Given the description of an element on the screen output the (x, y) to click on. 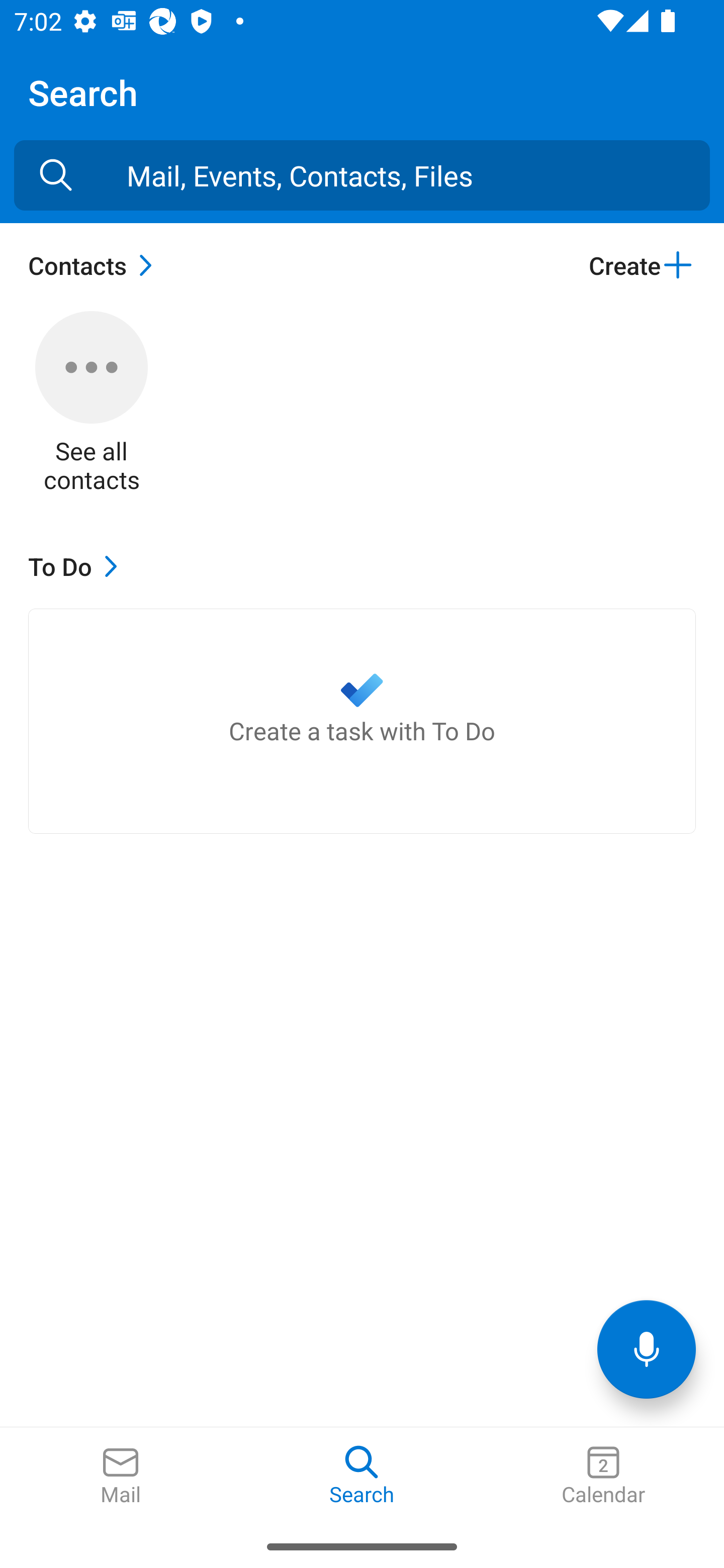
Search Mail, Events, Contacts, Files (55, 174)
Contacts (95, 264)
Create Create contact (641, 264)
See all contacts (91, 402)
To Do (77, 565)
Create a task with To Do (361, 721)
Voice Assistant (646, 1348)
Mail (120, 1475)
Calendar (603, 1475)
